Given the description of an element on the screen output the (x, y) to click on. 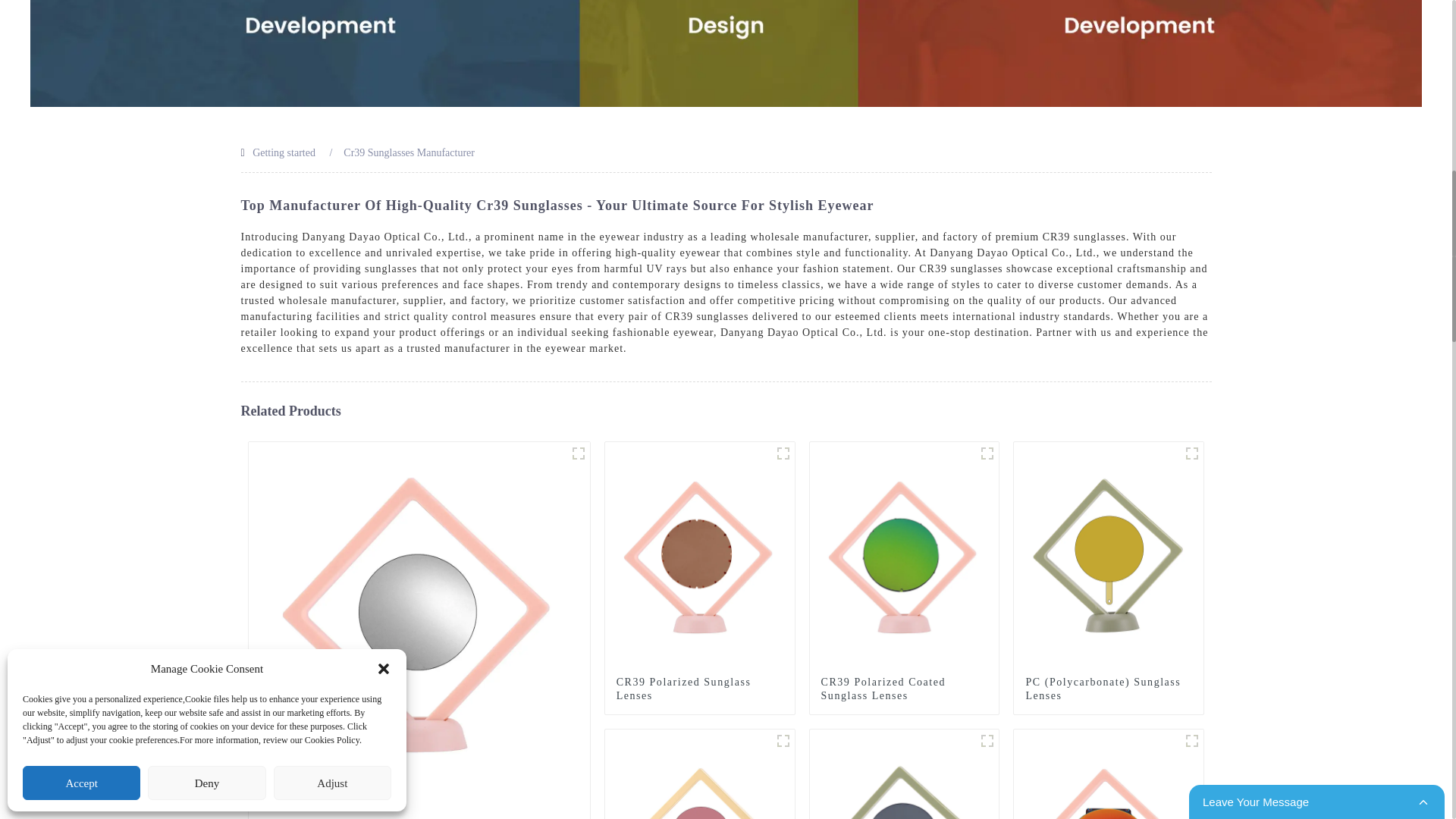
CR39 Polarized Coated Sunglass Lenses01 (986, 453)
CR39 Polarized Coated Sunglass Lenses (904, 688)
Cr39 Sunglasses Manufacturer (408, 152)
CR39 Polarized Sunglass Lenses (699, 555)
CR-39 Tinted Sunlenses01 (986, 740)
CR39 Polarized Coated Sunglass Lenses (904, 688)
Nylon Sunglass Lenses01 (782, 740)
CR39 Polarized Sunglass Lenses (699, 688)
Getting started (283, 152)
CR39 Coated Lens (418, 611)
CR39 Polarized Sunglass Lenses (699, 688)
CR39 Coated Lens (418, 801)
CR39 Polarized Coated Sunglass Lenses (903, 555)
CR39 Coated Lens01 (578, 453)
CR39 Coated Lens (418, 801)
